Given the description of an element on the screen output the (x, y) to click on. 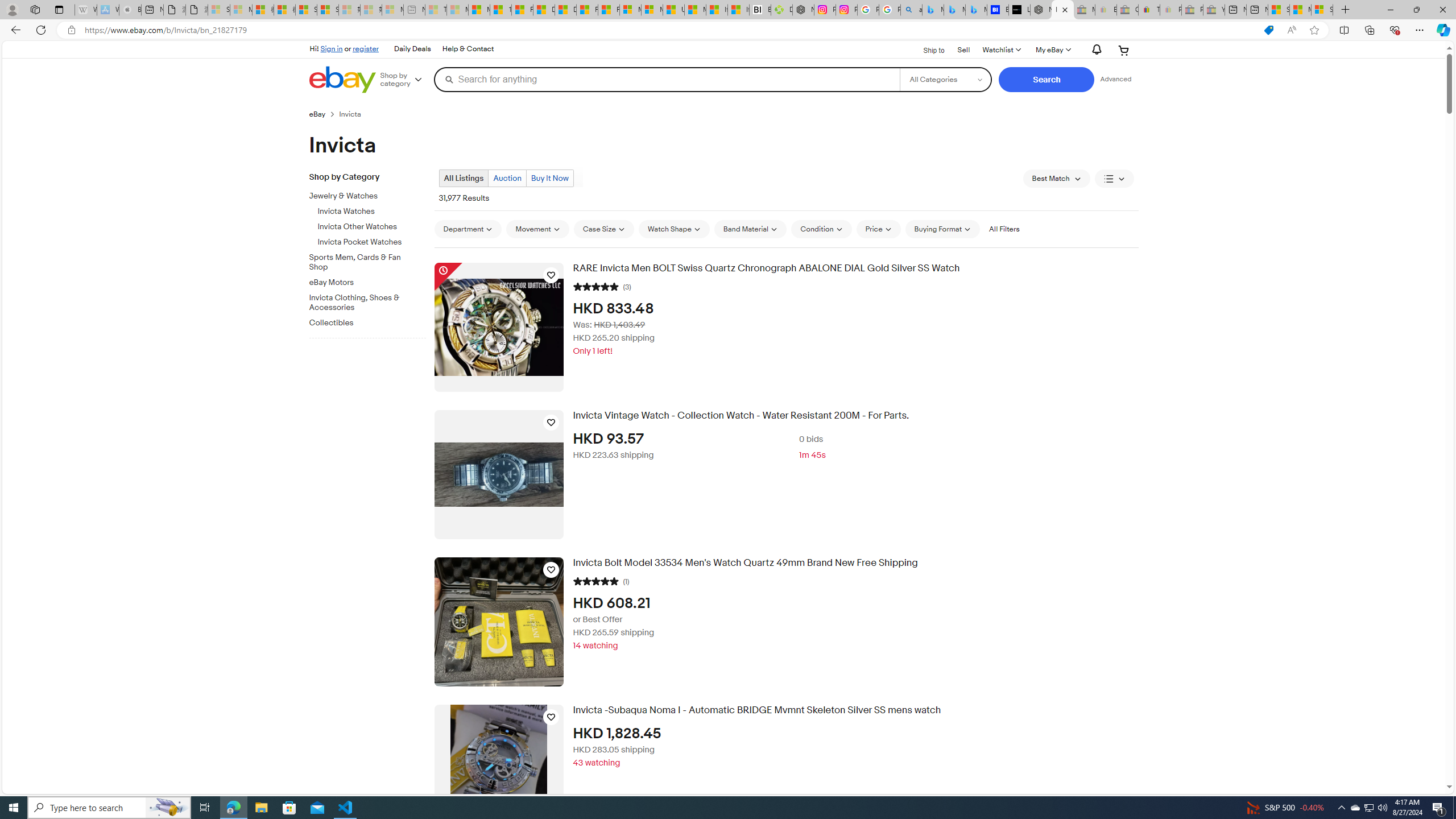
Drinking tea every day is proven to delay biological aging (565, 9)
Marine life - MSN - Sleeping (457, 9)
My eBay (1052, 49)
Invicta Clothing, Shoes & Accessories (371, 300)
Daily Deals (412, 49)
5 out of 5 stars (595, 580)
Select a category for search (945, 78)
eBay (317, 113)
